Given the description of an element on the screen output the (x, y) to click on. 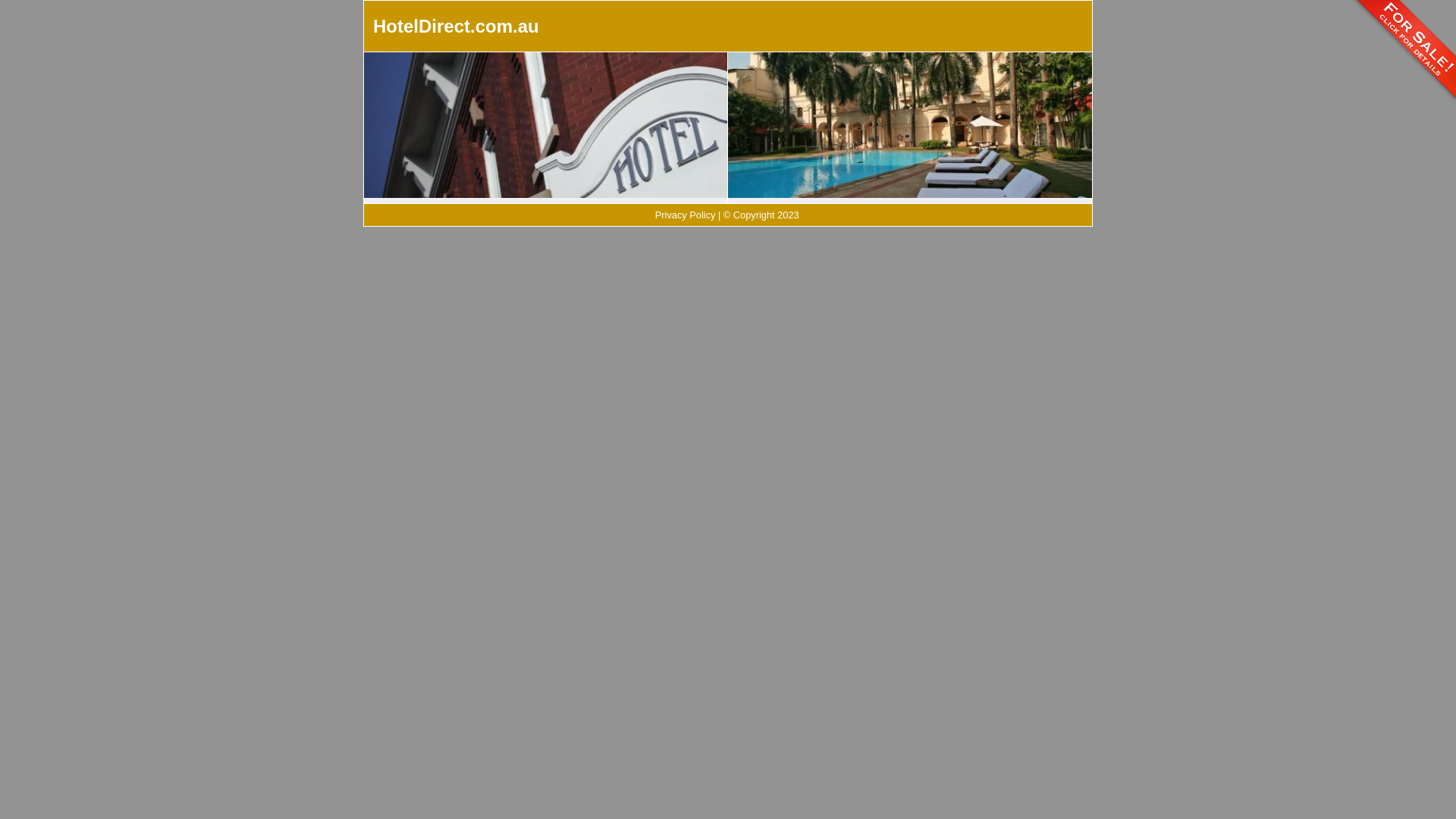
HotelDirect.com.au Element type: text (456, 25)
Privacy Policy Element type: text (685, 214)
